Given the description of an element on the screen output the (x, y) to click on. 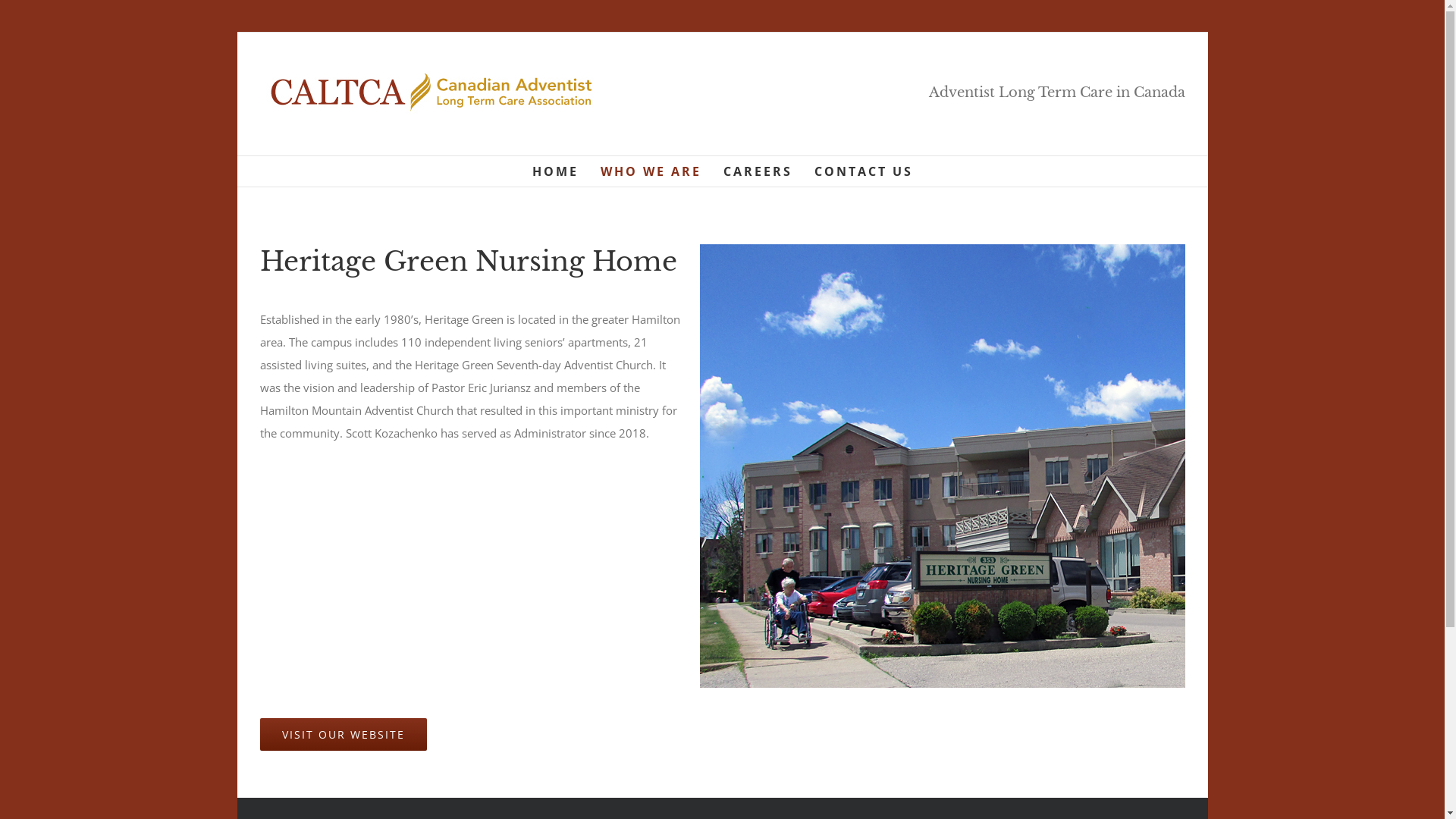
VISIT OUR WEBSITE Element type: text (342, 734)
WHO WE ARE Element type: text (650, 171)
HOME Element type: text (555, 171)
CONTACT US Element type: text (863, 171)
CAREERS Element type: text (757, 171)
